Given the description of an element on the screen output the (x, y) to click on. 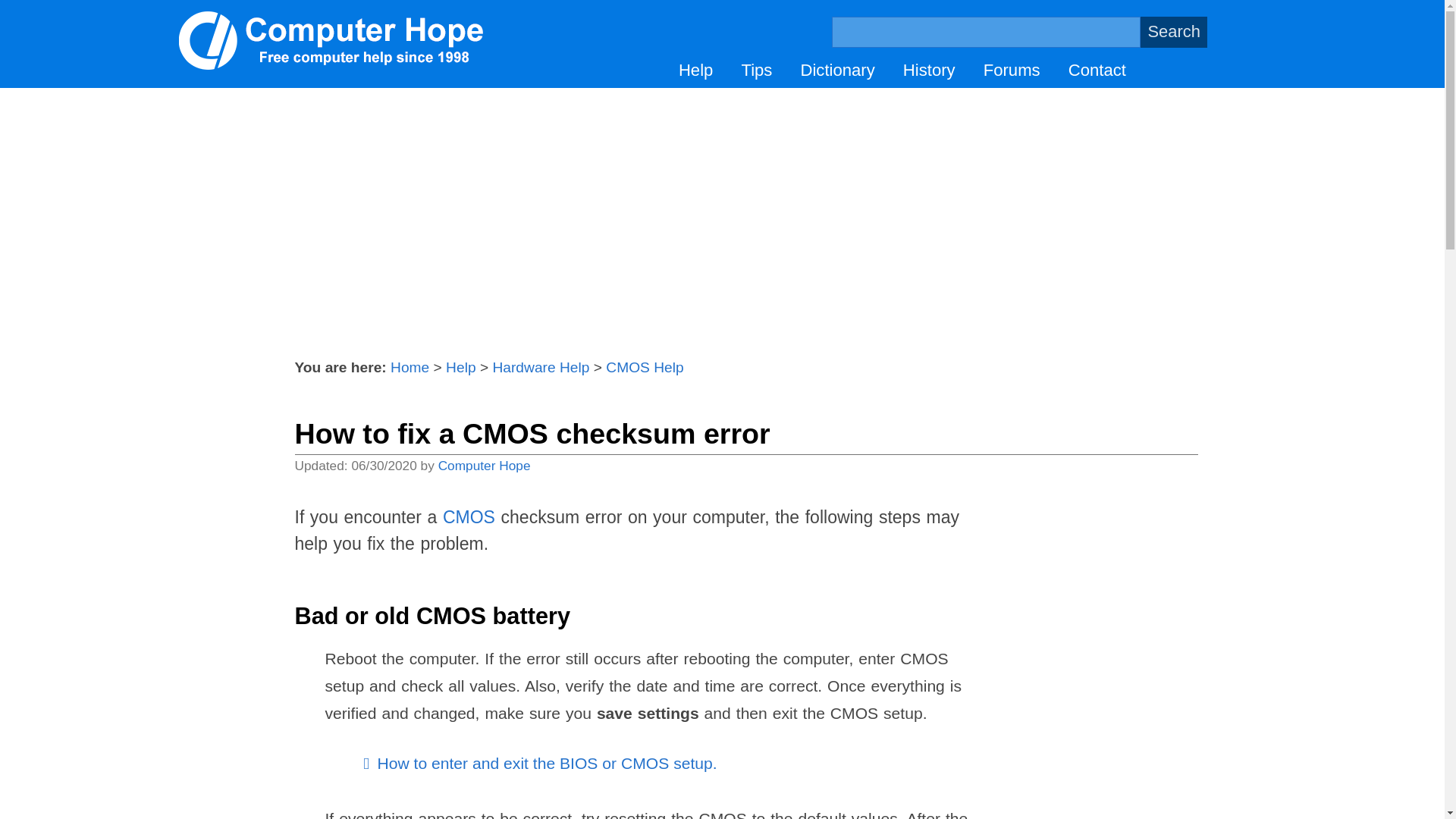
Computer Hope forums and community (1012, 69)
How to enter and exit the BIOS or CMOS setup. (546, 763)
Hardware Help (540, 367)
History (928, 69)
Help (695, 69)
Forums (1012, 69)
Search (1173, 31)
Home (409, 367)
Computer tips and tricks (756, 69)
Computer terms, jargon, and glossary (837, 69)
